Given the description of an element on the screen output the (x, y) to click on. 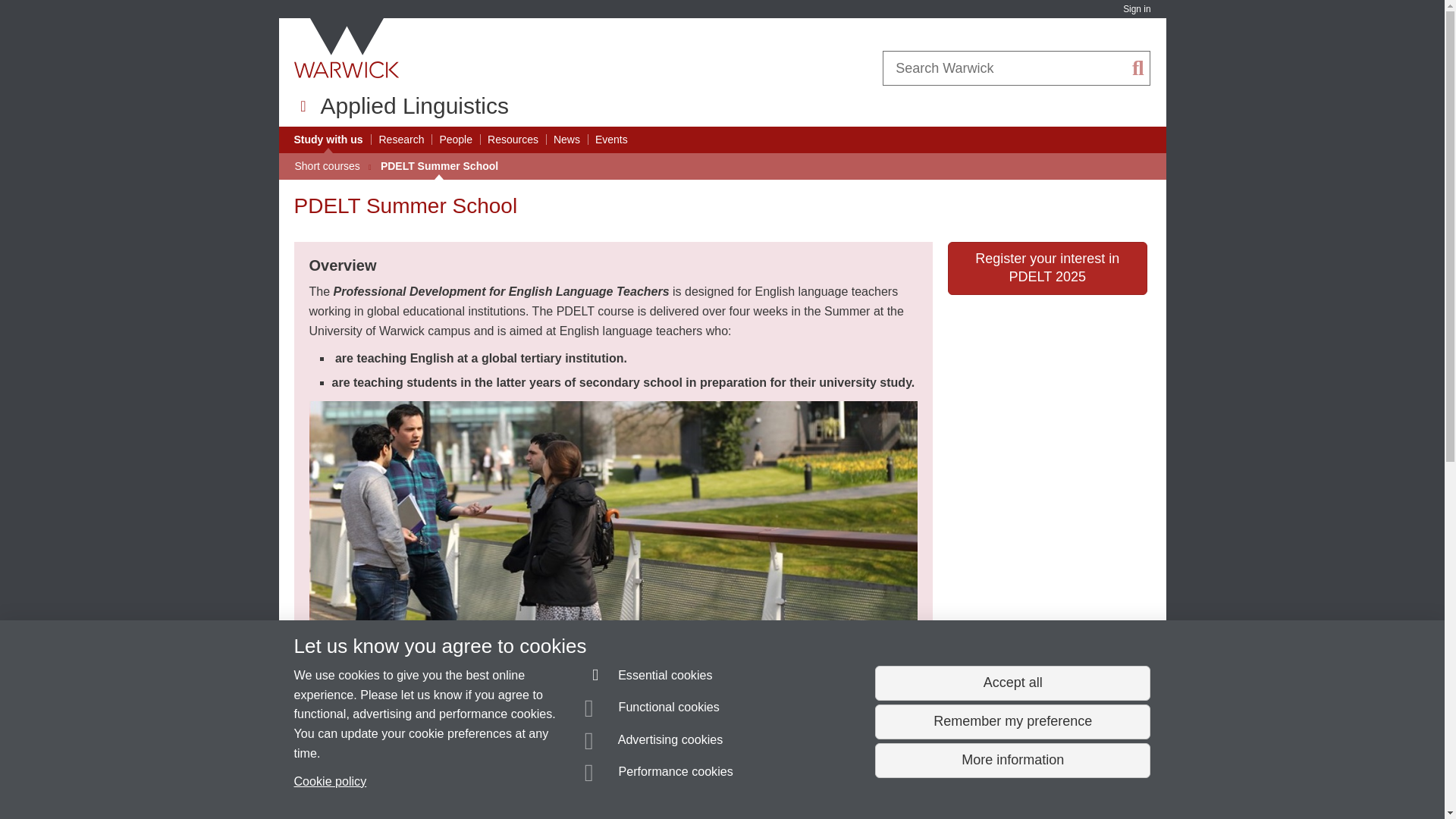
Essential cookies are always on (649, 677)
People (455, 139)
Accept all functional, advertising and performance cookies (1012, 683)
Sign in (1136, 9)
Events (611, 139)
Research (401, 139)
Short courses (326, 166)
